Given the description of an element on the screen output the (x, y) to click on. 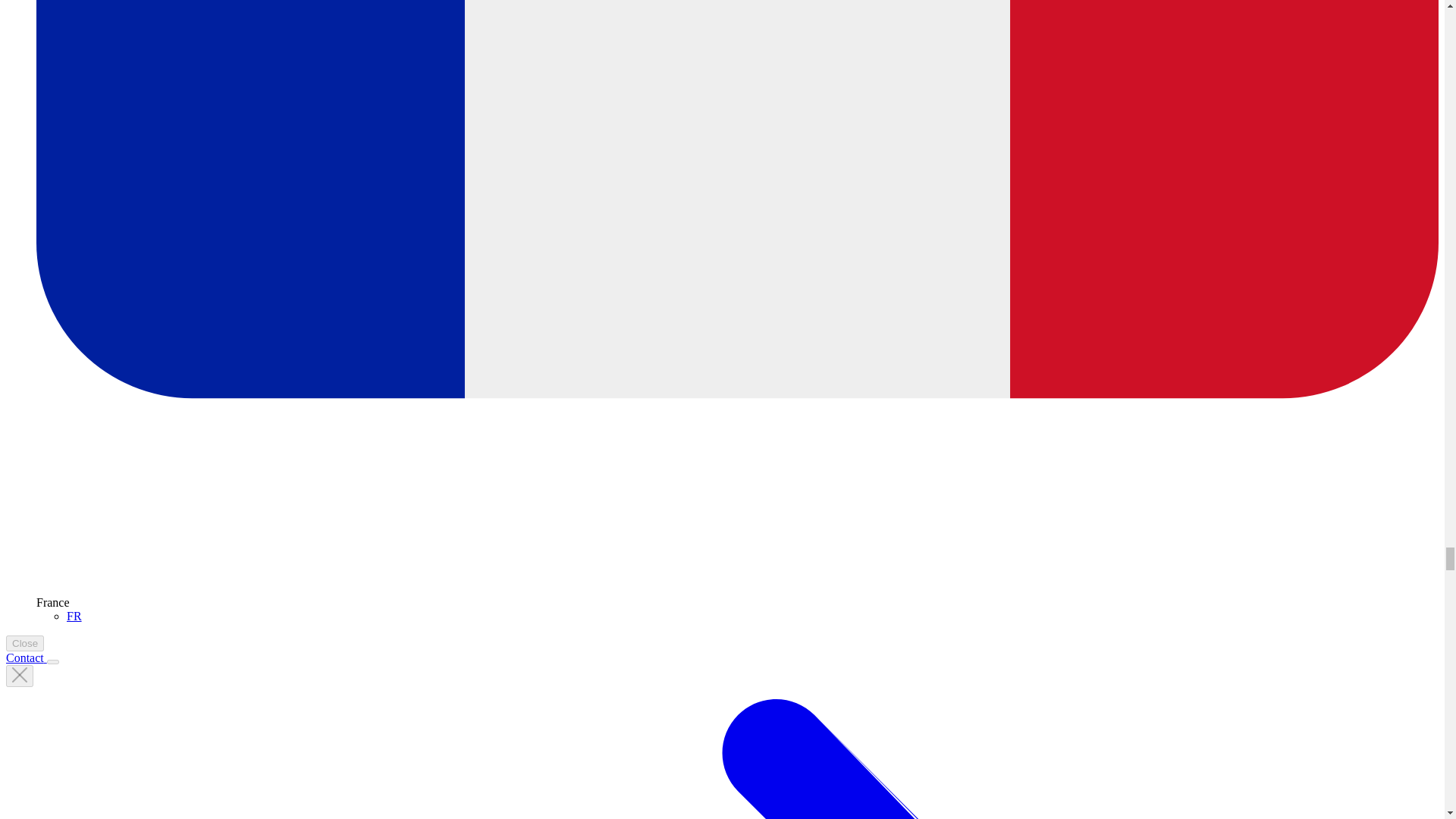
Global Talent Management: Learn more (25, 657)
